Given the description of an element on the screen output the (x, y) to click on. 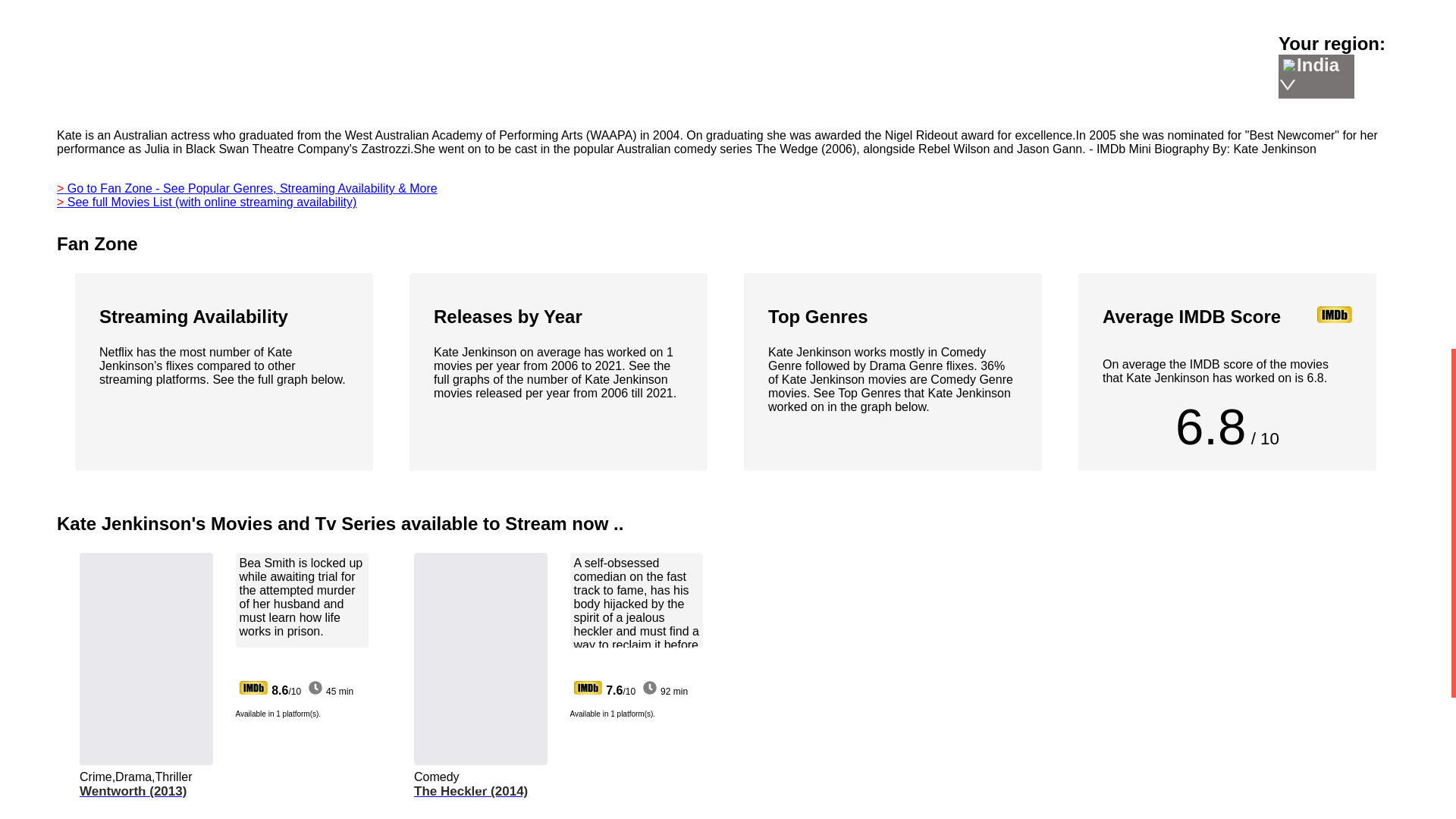
Link (1284, 9)
Mail (1336, 2)
Link (1336, 11)
